Given the description of an element on the screen output the (x, y) to click on. 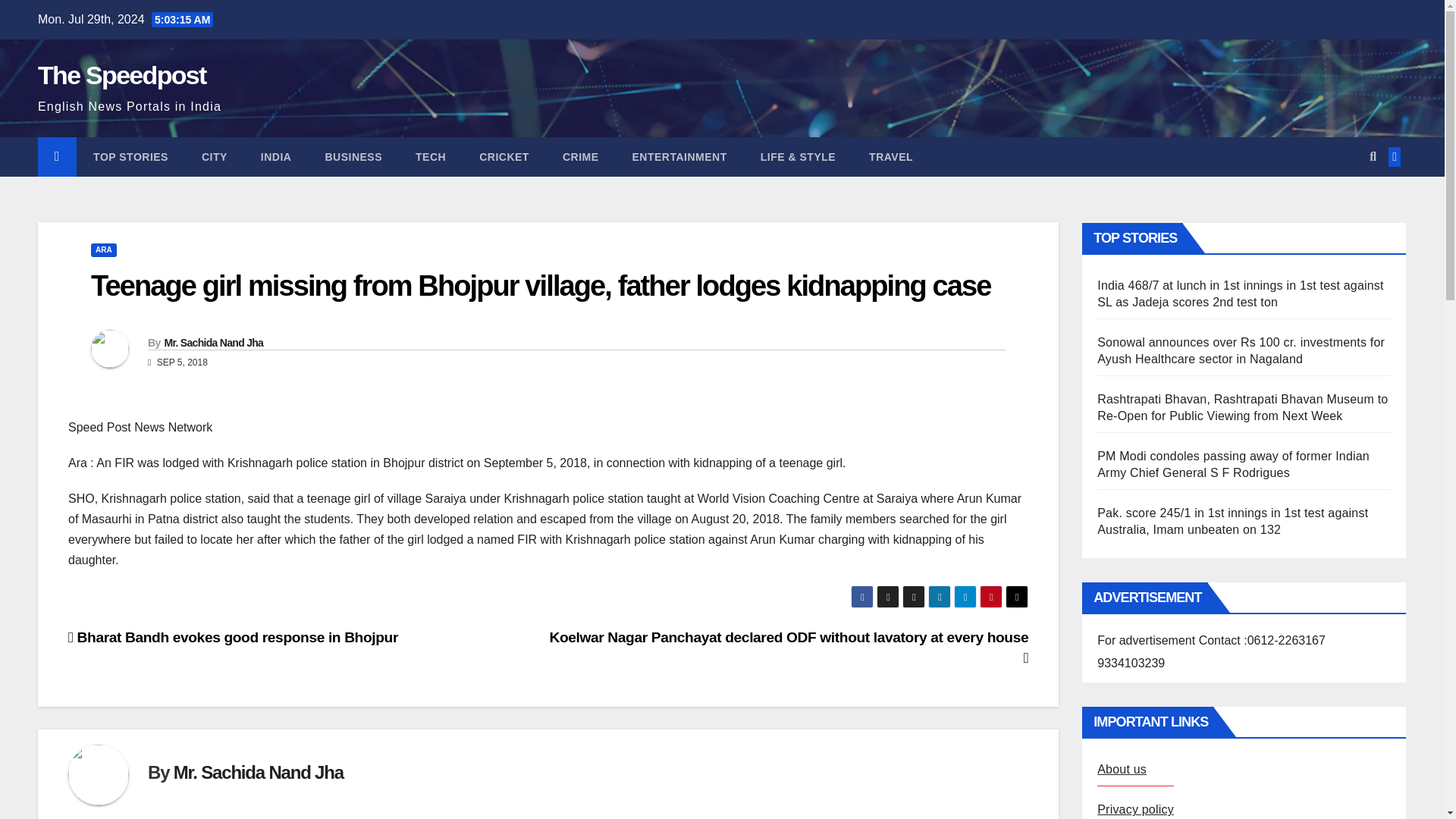
CRICKET (504, 156)
INDIA (276, 156)
TOP STORIES (130, 156)
The Speedpost (121, 74)
Crime (580, 156)
India (276, 156)
ENTERTAINMENT (679, 156)
Travel (890, 156)
Bharat Bandh evokes good response in Bhojpur (232, 637)
City (214, 156)
TRAVEL (890, 156)
ARA (103, 250)
Tech (430, 156)
Entertainment (679, 156)
BUSINESS (352, 156)
